Given the description of an element on the screen output the (x, y) to click on. 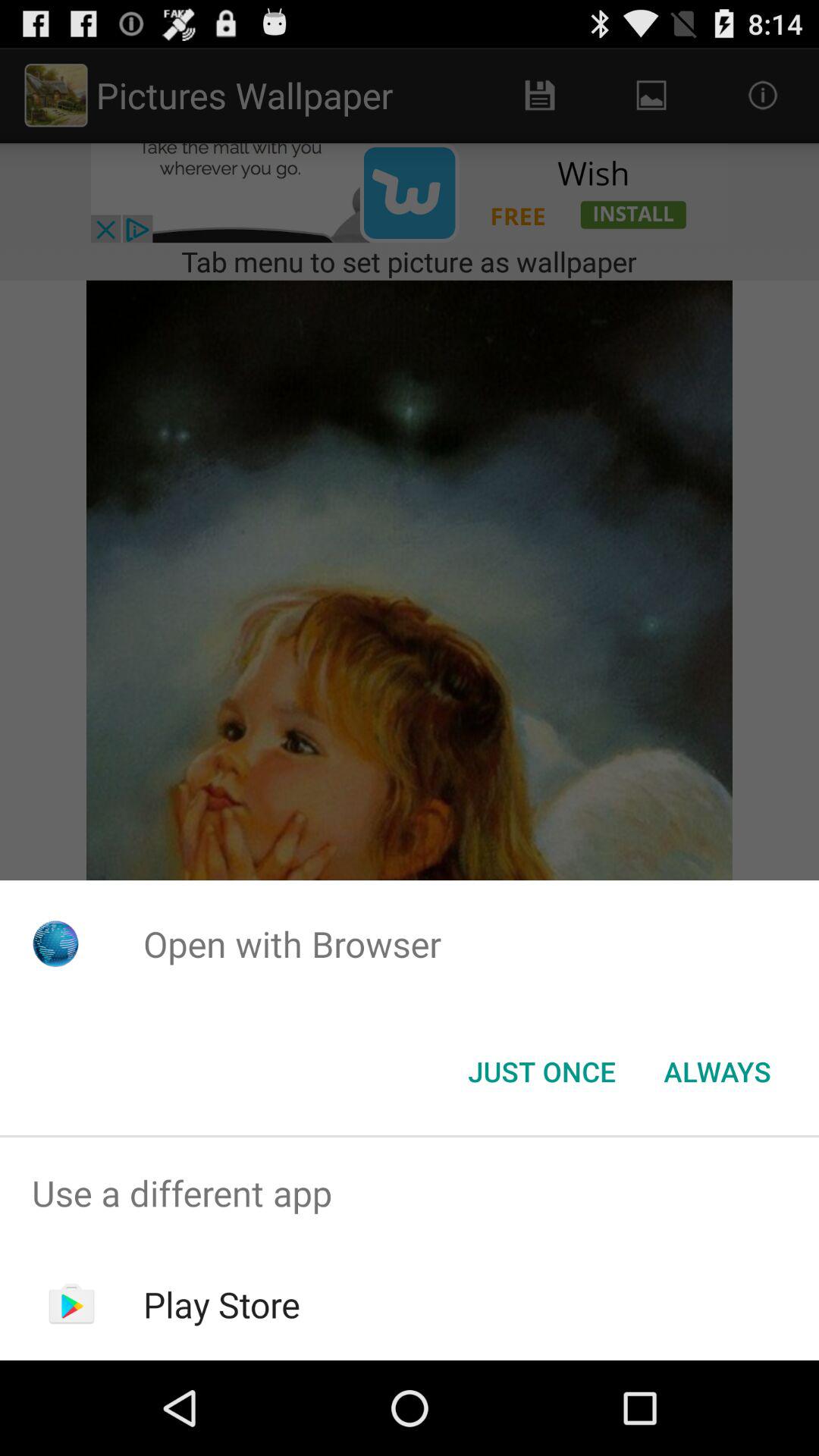
select item next to just once icon (717, 1071)
